Given the description of an element on the screen output the (x, y) to click on. 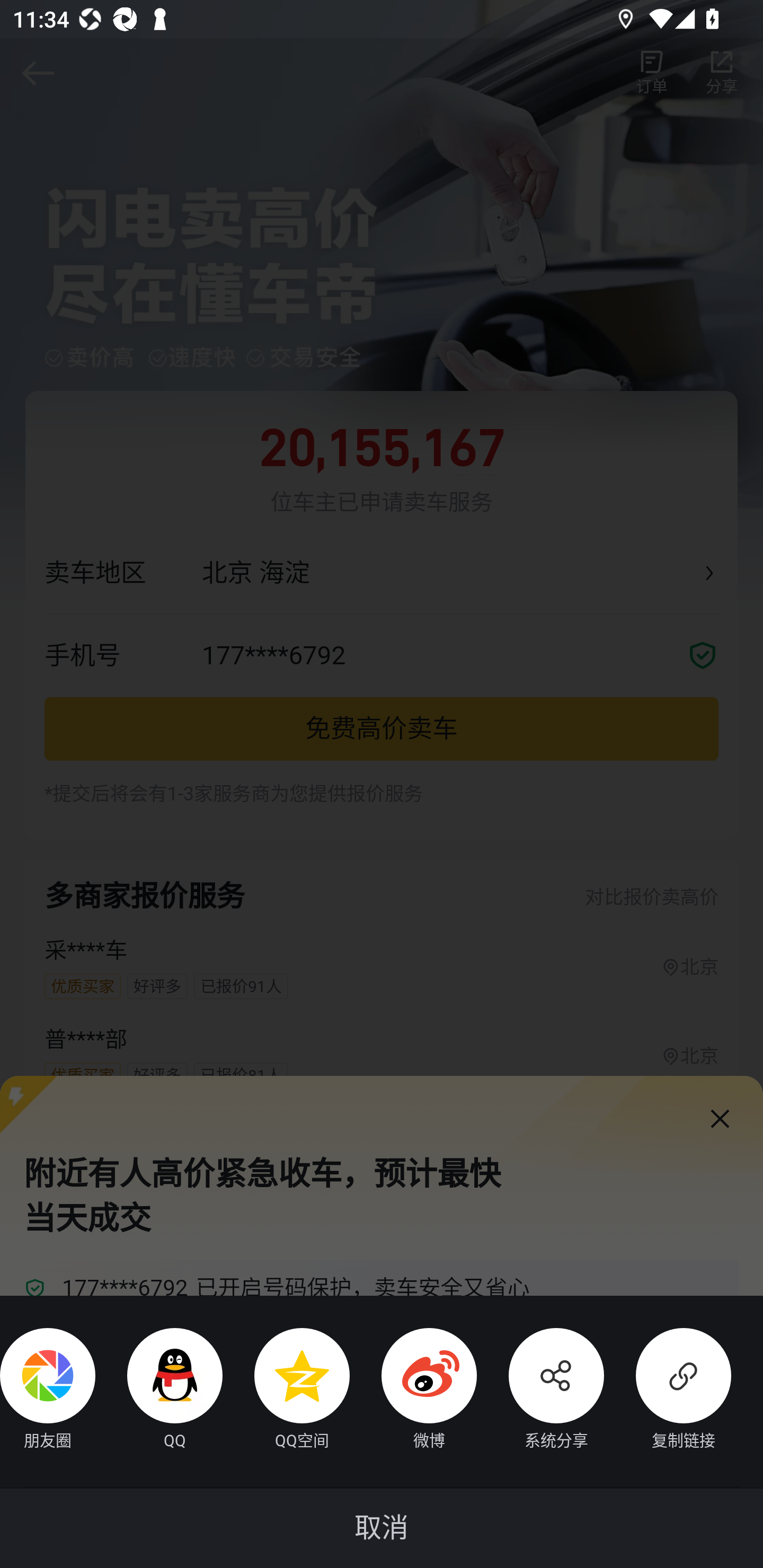
朋友圈 (47, 1390)
QQ (158, 1390)
QQ空间 (285, 1390)
微博 (412, 1390)
系统分享 (540, 1390)
复制链接 (667, 1390)
取消 (381, 1528)
